Given the description of an element on the screen output the (x, y) to click on. 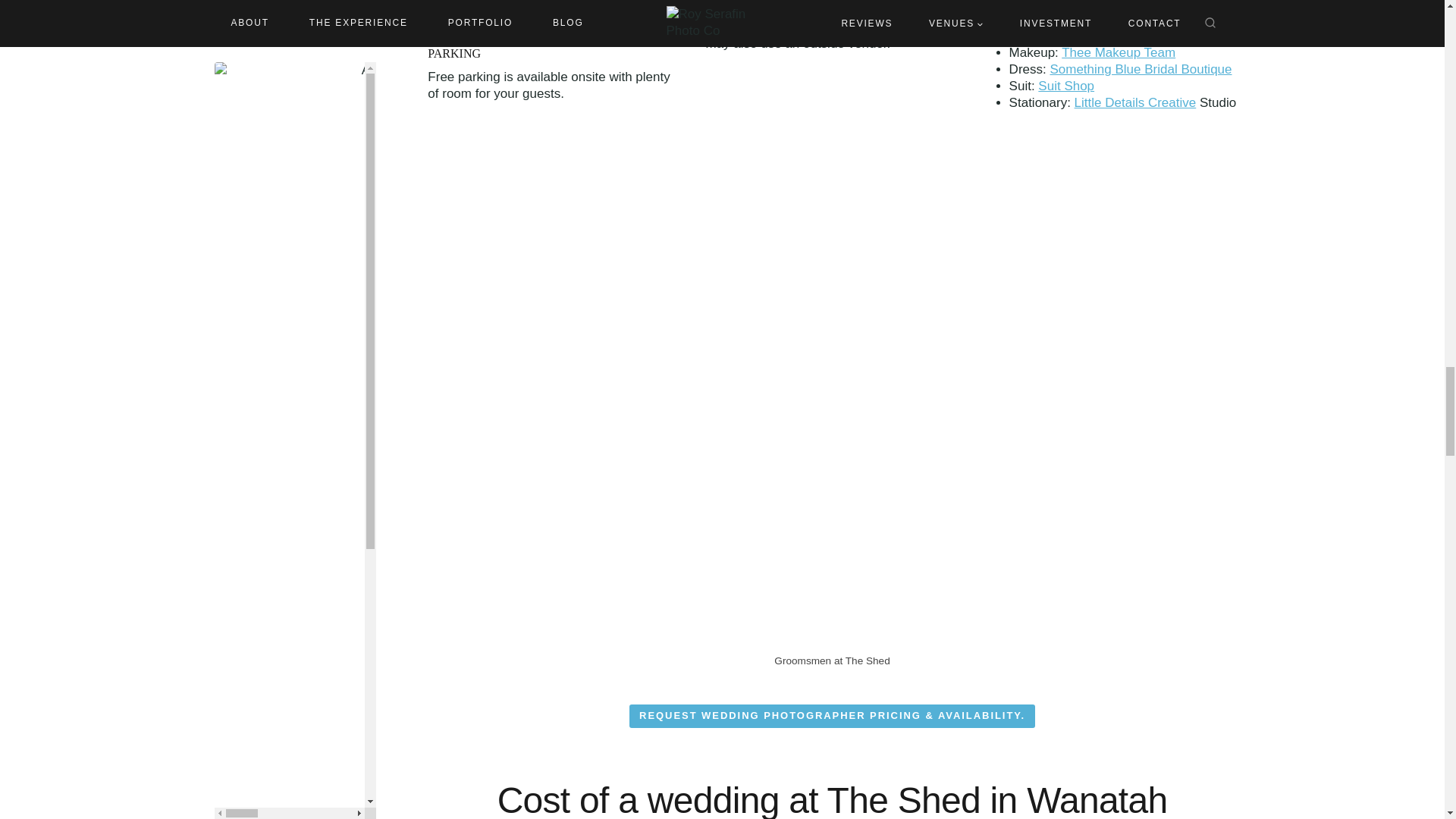
Something Blue Bridal Boutique (1140, 69)
Suit Shop (1066, 85)
Little Details Creative (1135, 102)
Top Knot Bridal (1082, 35)
Thee Makeup Team (1117, 52)
